Given the description of an element on the screen output the (x, y) to click on. 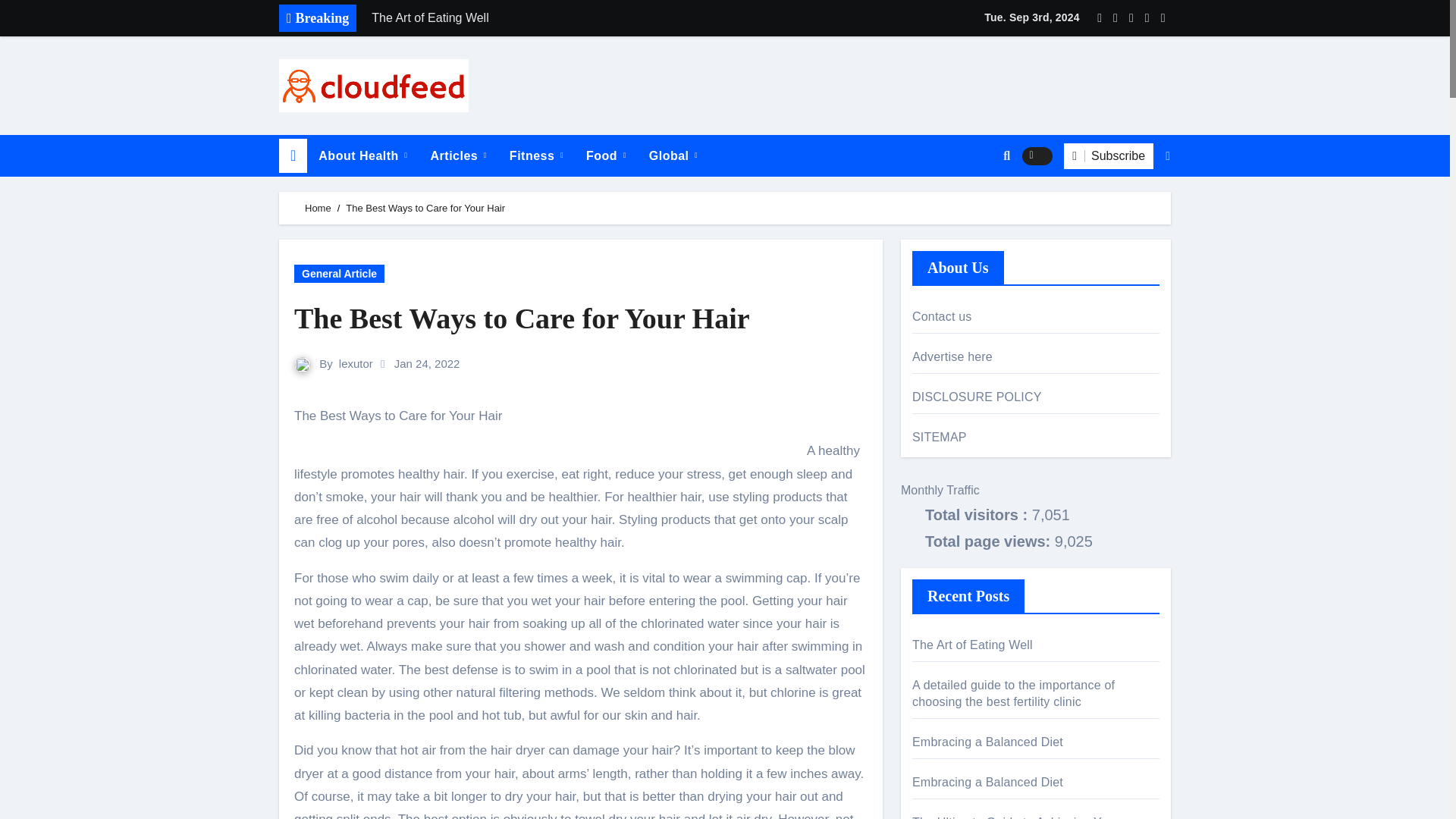
Fitness (536, 155)
Articles (458, 155)
Articles (458, 155)
The Art of Eating Well (574, 18)
About Health (363, 155)
About Health (363, 155)
Fitness (536, 155)
